Given the description of an element on the screen output the (x, y) to click on. 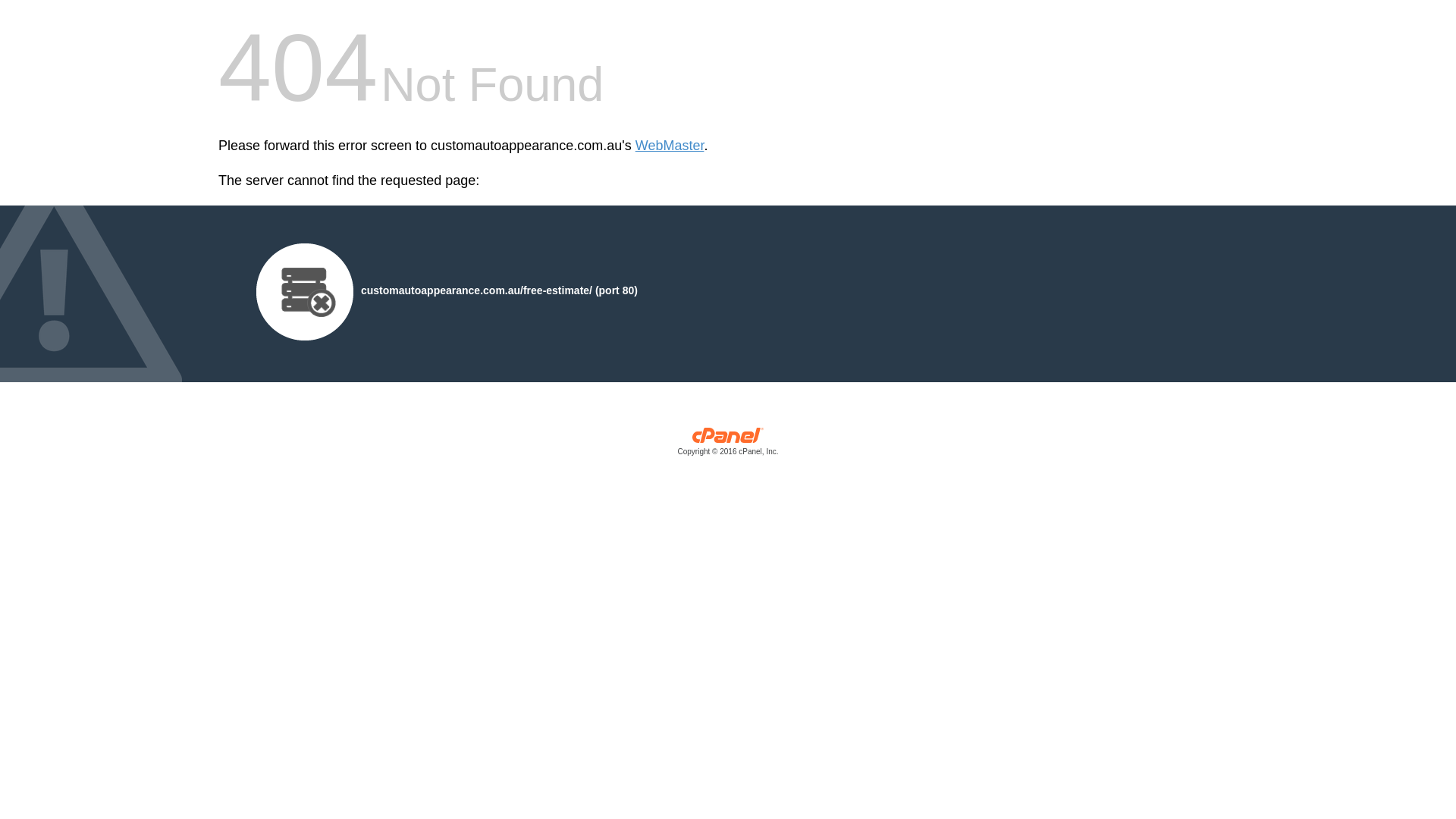
WebMaster Element type: text (669, 145)
